Given the description of an element on the screen output the (x, y) to click on. 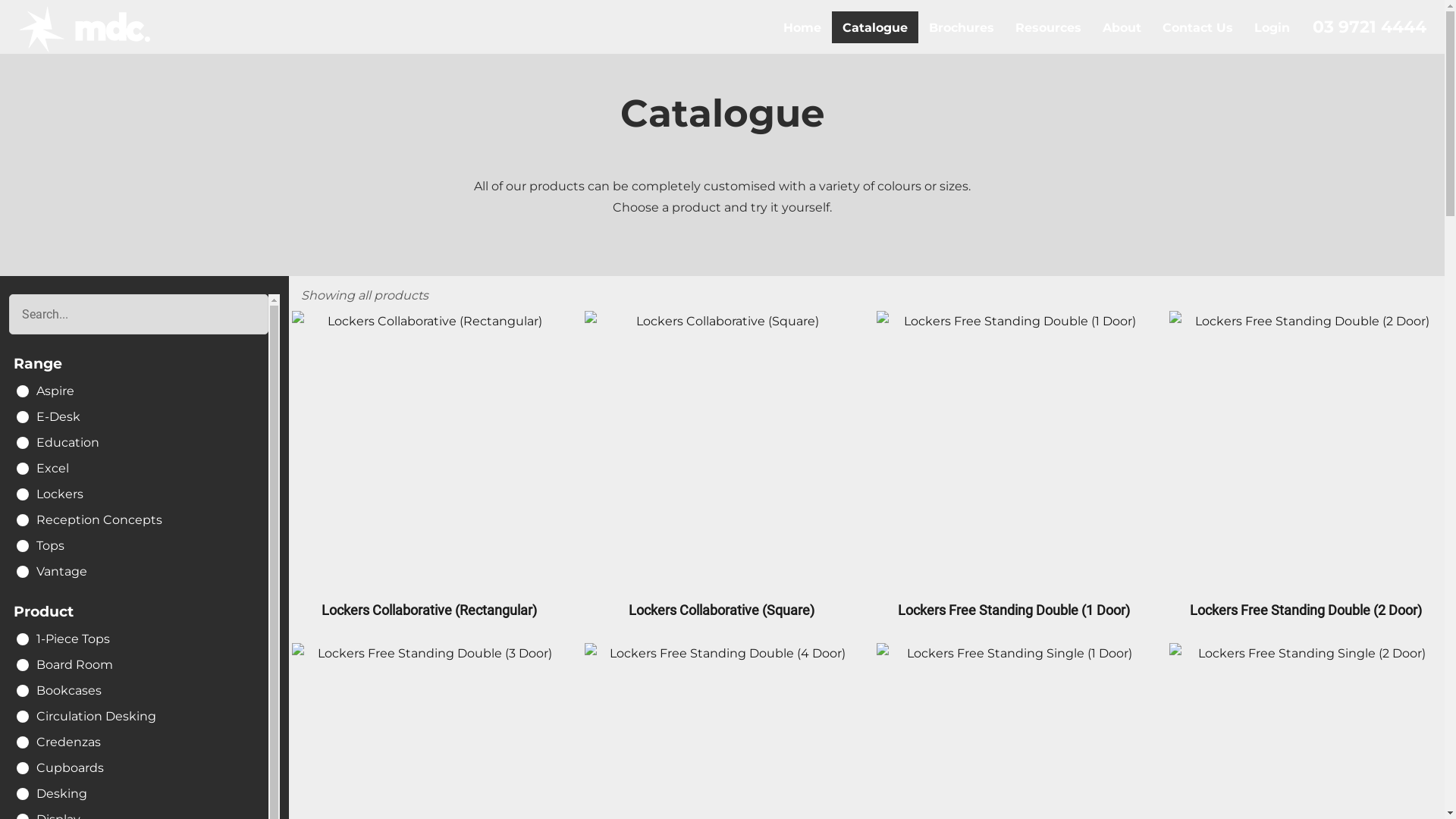
Brochures Element type: text (961, 27)
About Element type: text (1121, 27)
Resources Element type: text (1048, 27)
Home Element type: text (801, 27)
Login Element type: text (1271, 27)
Catalogue Element type: text (874, 27)
Contact Us Element type: text (1197, 27)
